Given the description of an element on the screen output the (x, y) to click on. 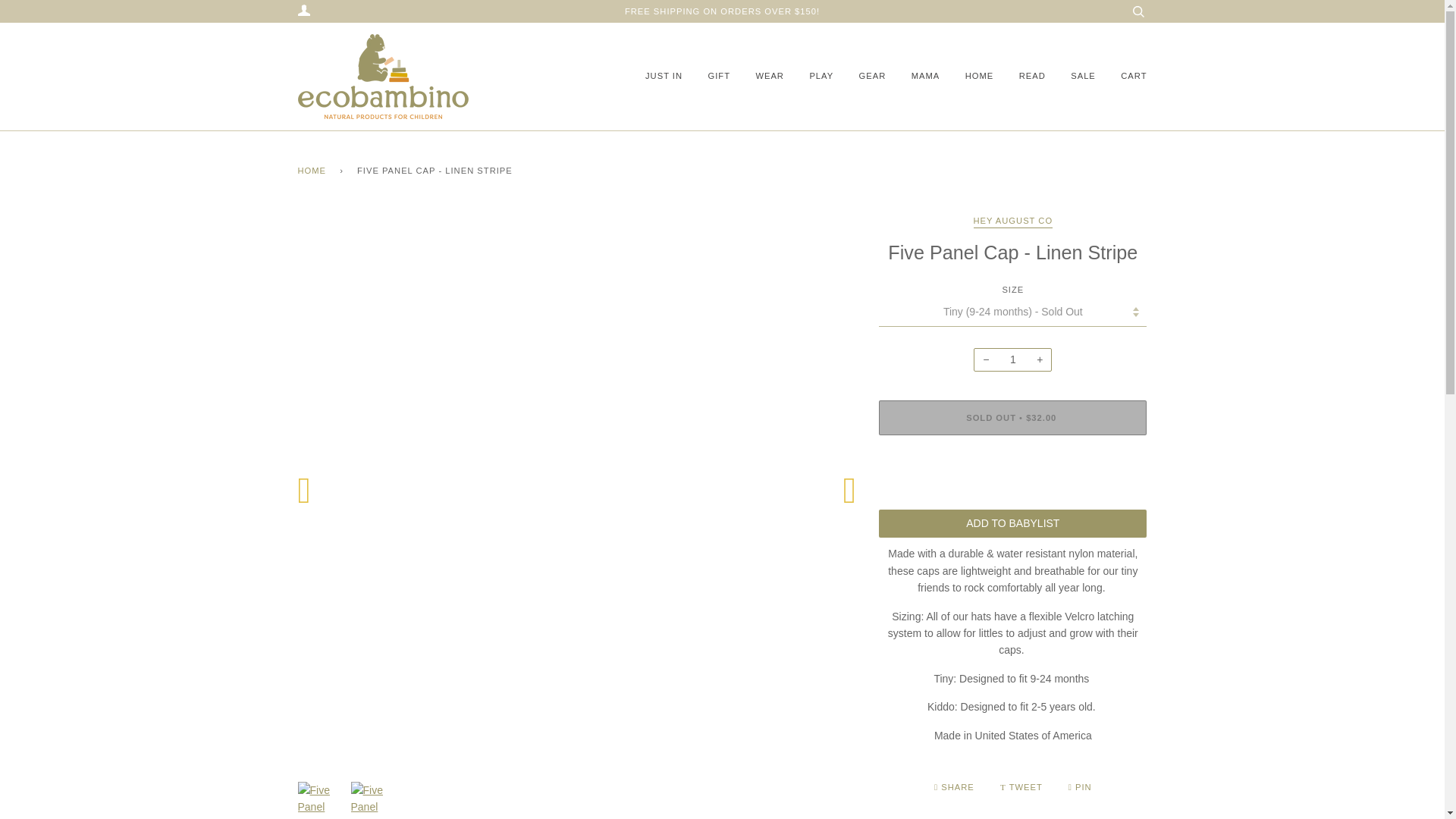
GIFT (706, 76)
PLAY (809, 76)
Search (1137, 11)
Back to the frontpage (314, 171)
1 (1012, 360)
JUST IN (659, 76)
WEAR (758, 76)
